Given the description of an element on the screen output the (x, y) to click on. 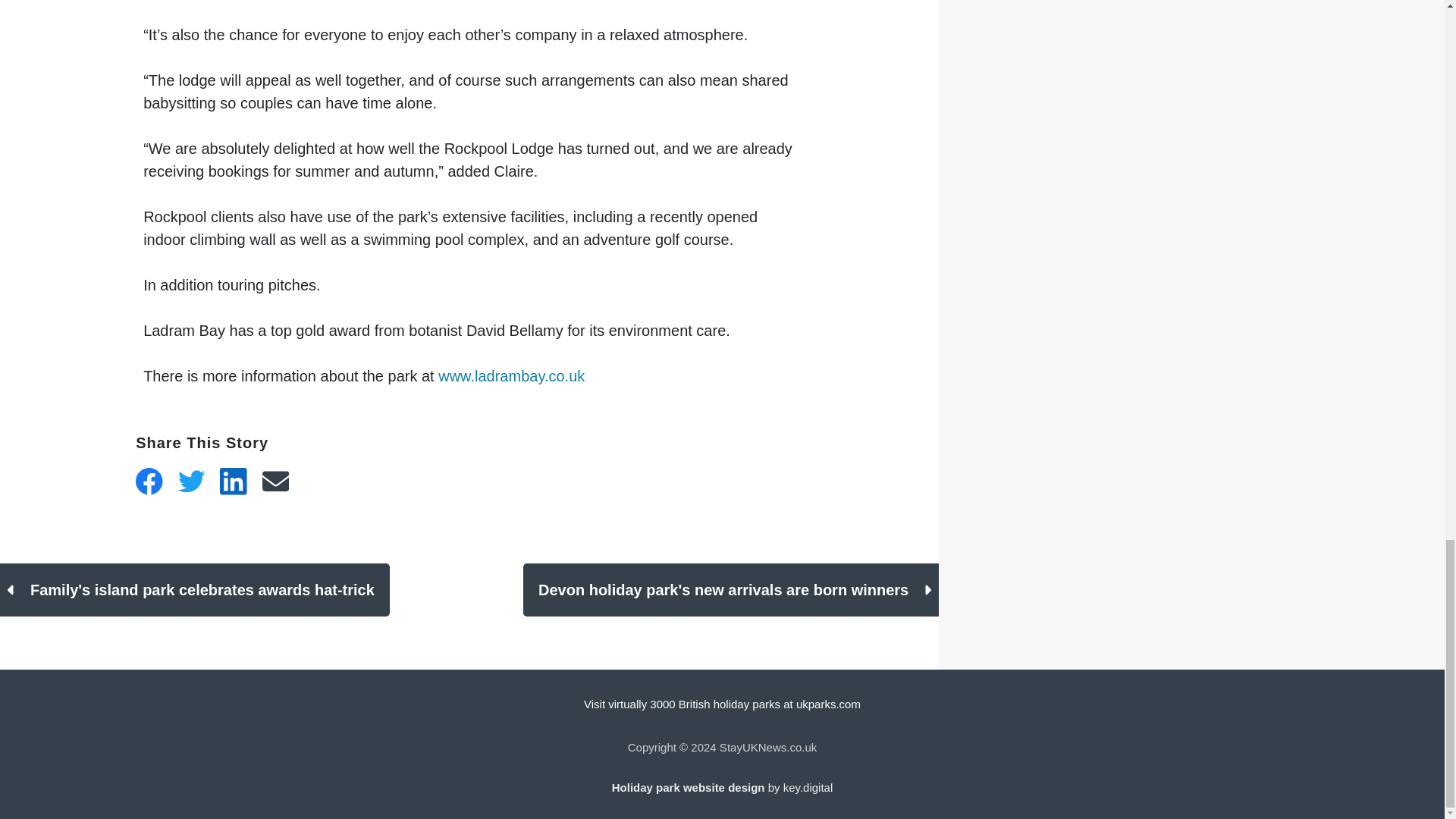
www.ladrambay.co.uk (511, 375)
Holiday park website design (688, 787)
Share To Facebook (149, 481)
Family's island park celebrates awards hat-trick (195, 589)
Email a link to this story (275, 481)
Devon holiday park's new arrivals are born winners (730, 589)
Email a link to this story (275, 481)
Share On LinkedIn (233, 481)
Share To Facebook (149, 481)
Share On Twitter (191, 481)
